Given the description of an element on the screen output the (x, y) to click on. 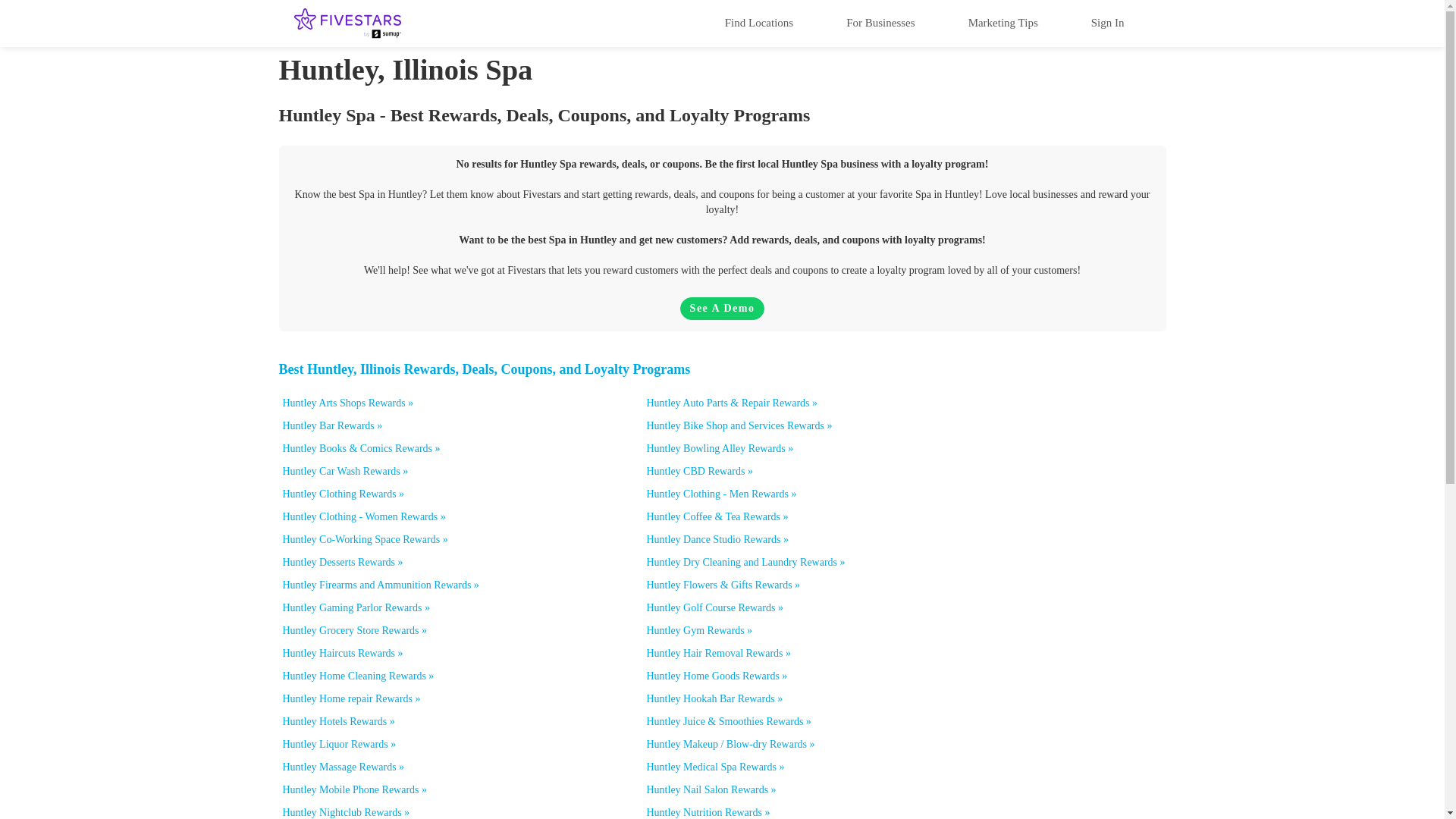
See A Demo (722, 308)
Sign In (1107, 22)
Marketing Tips (1002, 22)
For Businesses (880, 22)
See a Demo and Learn More About Fivestars (722, 308)
Marketing Tips and Blog (1002, 22)
Find Locations (759, 22)
